Given the description of an element on the screen output the (x, y) to click on. 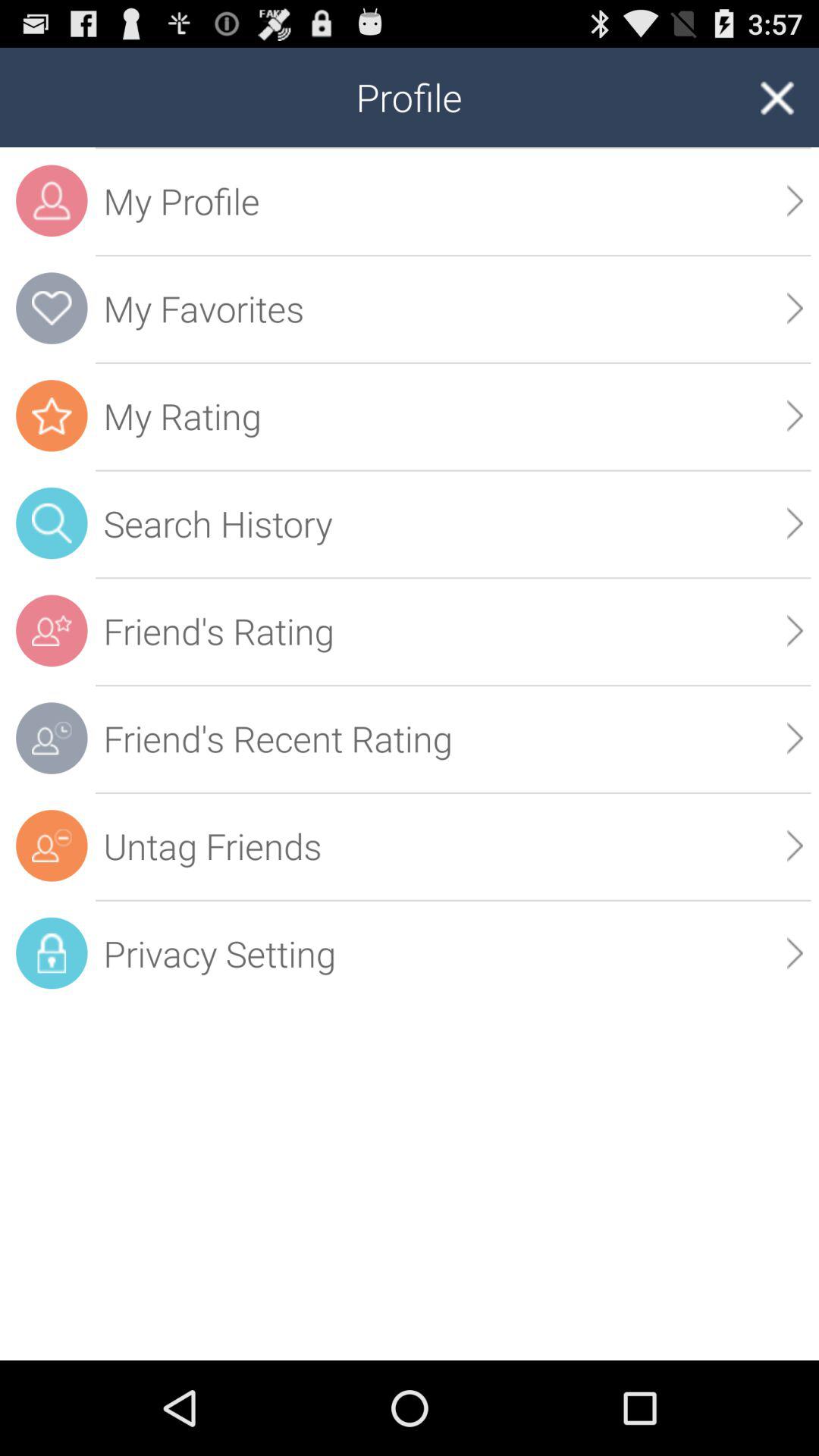
turn off the icon below friend s recent app (795, 845)
